Given the description of an element on the screen output the (x, y) to click on. 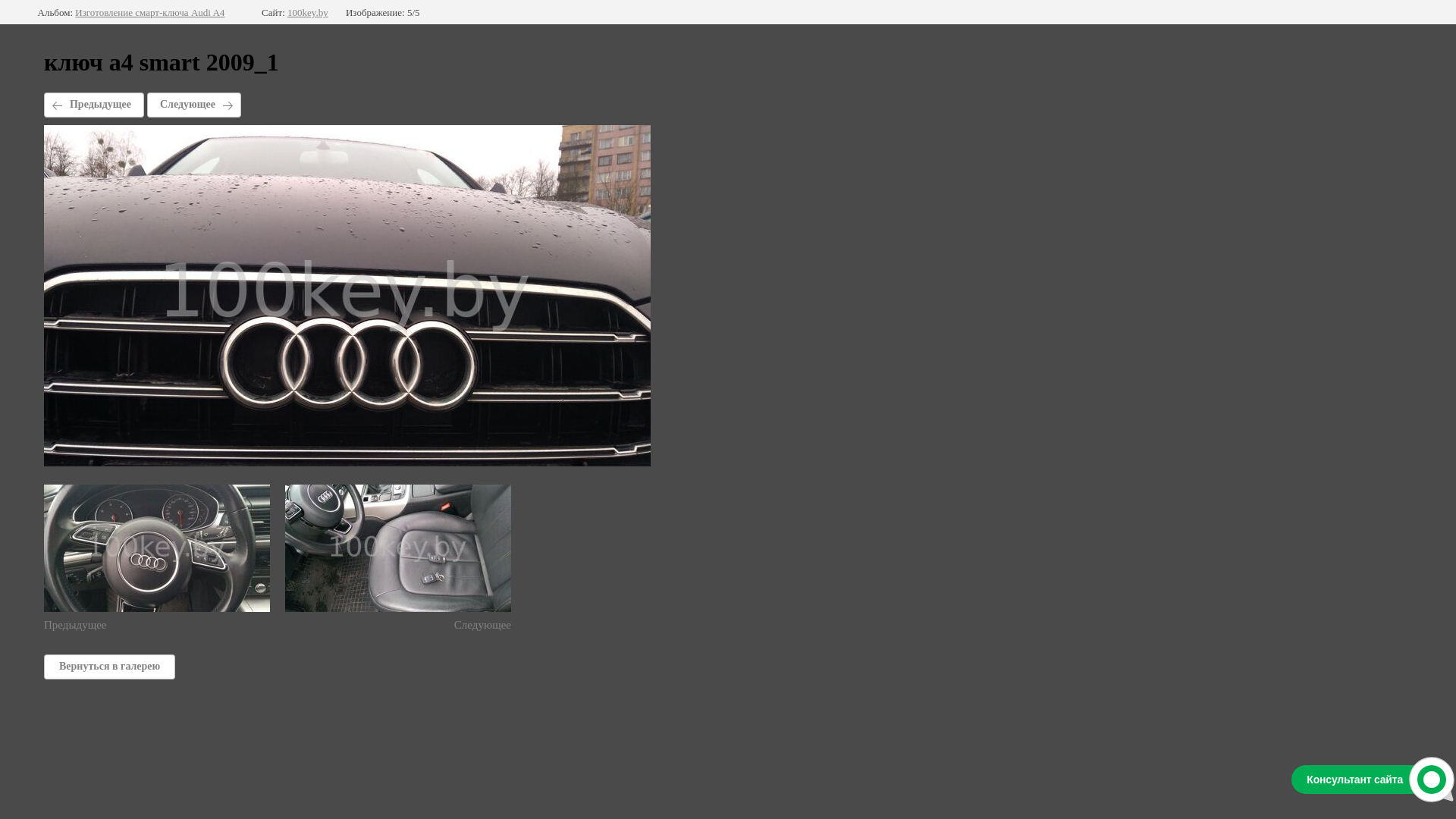
100key.by Element type: text (307, 12)
